Given the description of an element on the screen output the (x, y) to click on. 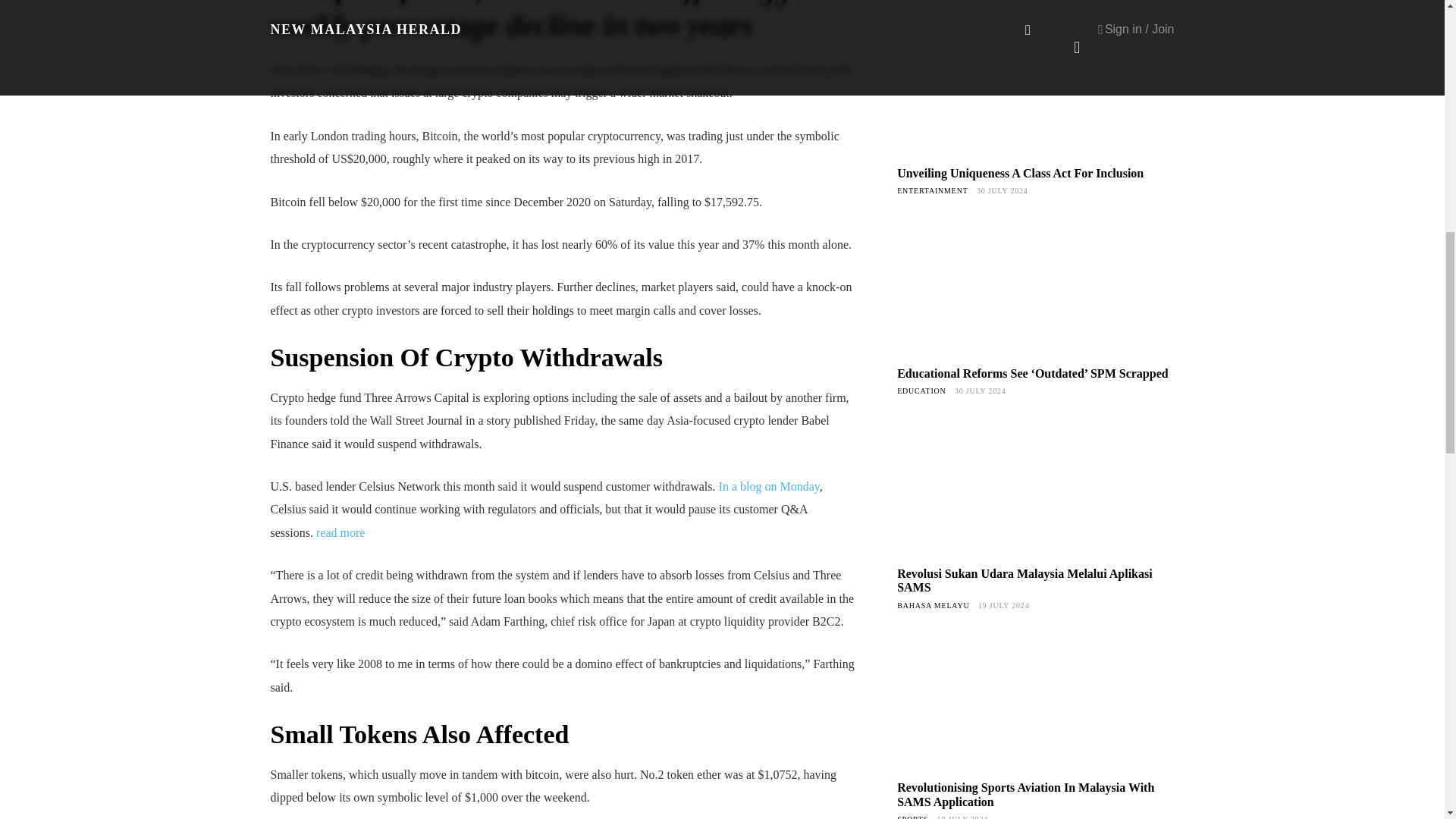
read more (340, 532)
Unveiling Uniqueness A Class Act For Inclusion (1019, 173)
In a blog on Monday (769, 486)
Unveiling Uniqueness A Class Act For Inclusion (1034, 87)
